Given the description of an element on the screen output the (x, y) to click on. 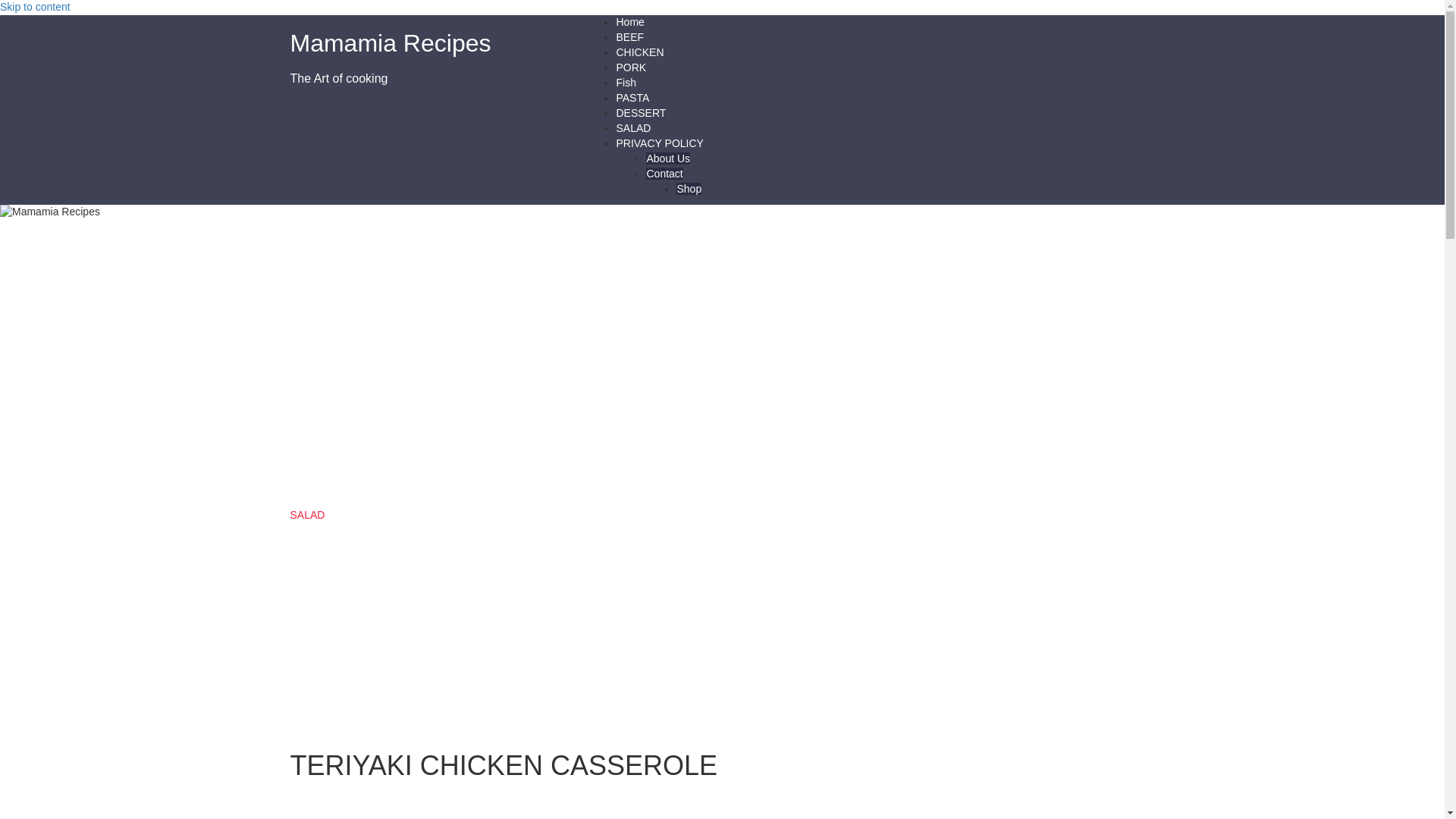
PRIVACY POLICY (659, 143)
Advertisement (611, 803)
PASTA (632, 97)
Mamamia Recipes (50, 212)
BEEF (629, 37)
About Us (668, 158)
DESSERT (640, 112)
CHICKEN (639, 51)
Contact (664, 173)
SALAD (306, 514)
SALAD (306, 514)
Mamamia Recipes (389, 42)
Home (629, 21)
Fish (624, 82)
